Given the description of an element on the screen output the (x, y) to click on. 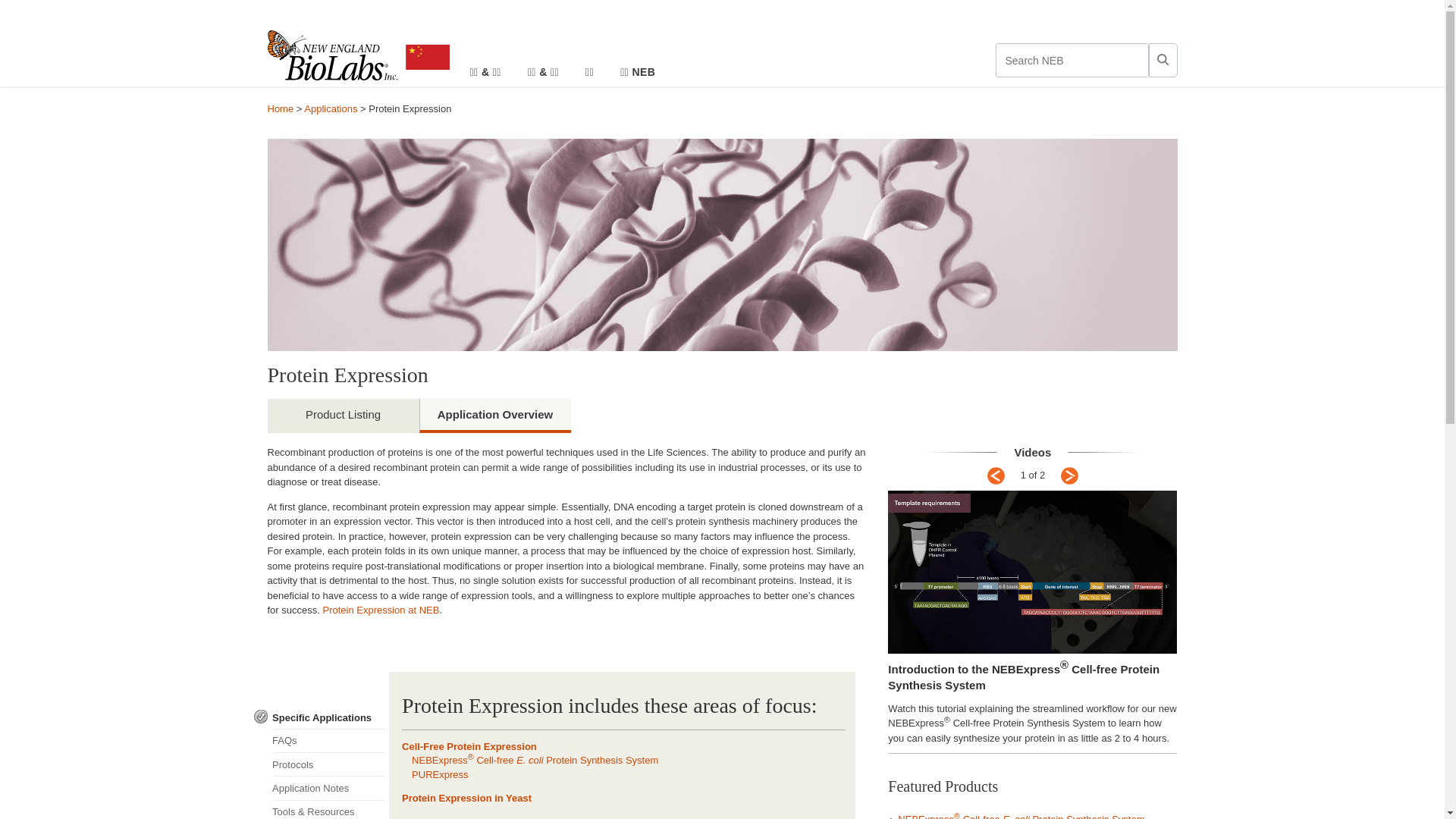
PURExpress Element type: text (439, 774)
Insert a query. Press enter to send Element type: hover (1072, 59)
Home Element type: text (279, 108)
FAQs Element type: text (329, 740)
Protein Expression in Yeast Element type: text (466, 797)
Application Notes Element type: text (329, 787)
Product Listing Element type: text (342, 415)
Protocols Element type: text (329, 763)
Applications Element type: text (330, 108)
Protein Expression at NEB Element type: text (380, 609)
Application Overview Element type: text (494, 415)
Cell-Free Protein Expression Element type: text (468, 746)
Specific Applications Element type: text (329, 717)
Next Element type: text (1069, 475)
Previous Element type: text (995, 475)
